Given the description of an element on the screen output the (x, y) to click on. 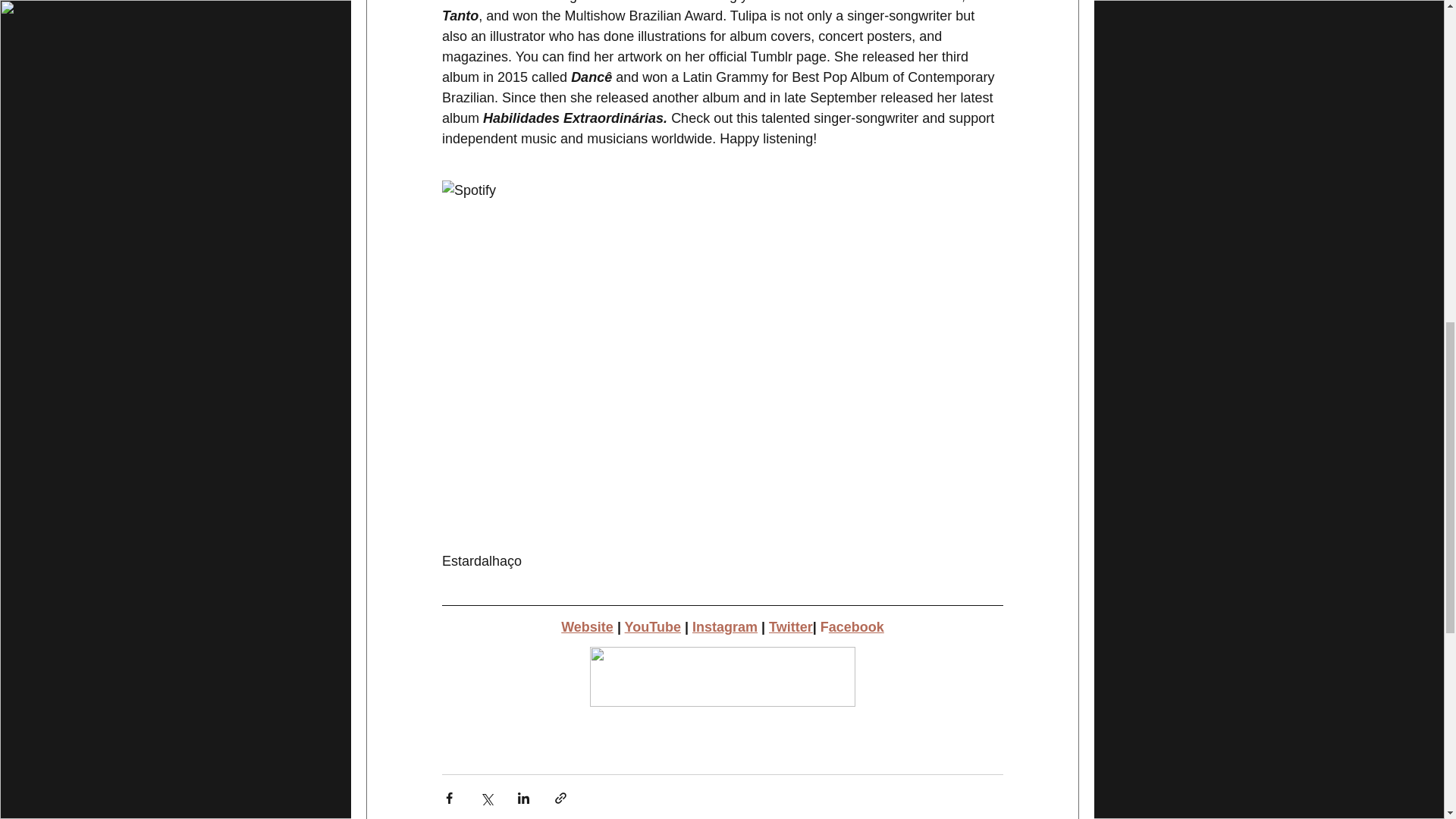
YouTube (651, 626)
Instagram (724, 626)
Website (586, 626)
acebook (855, 626)
Twitter (790, 626)
